Given the description of an element on the screen output the (x, y) to click on. 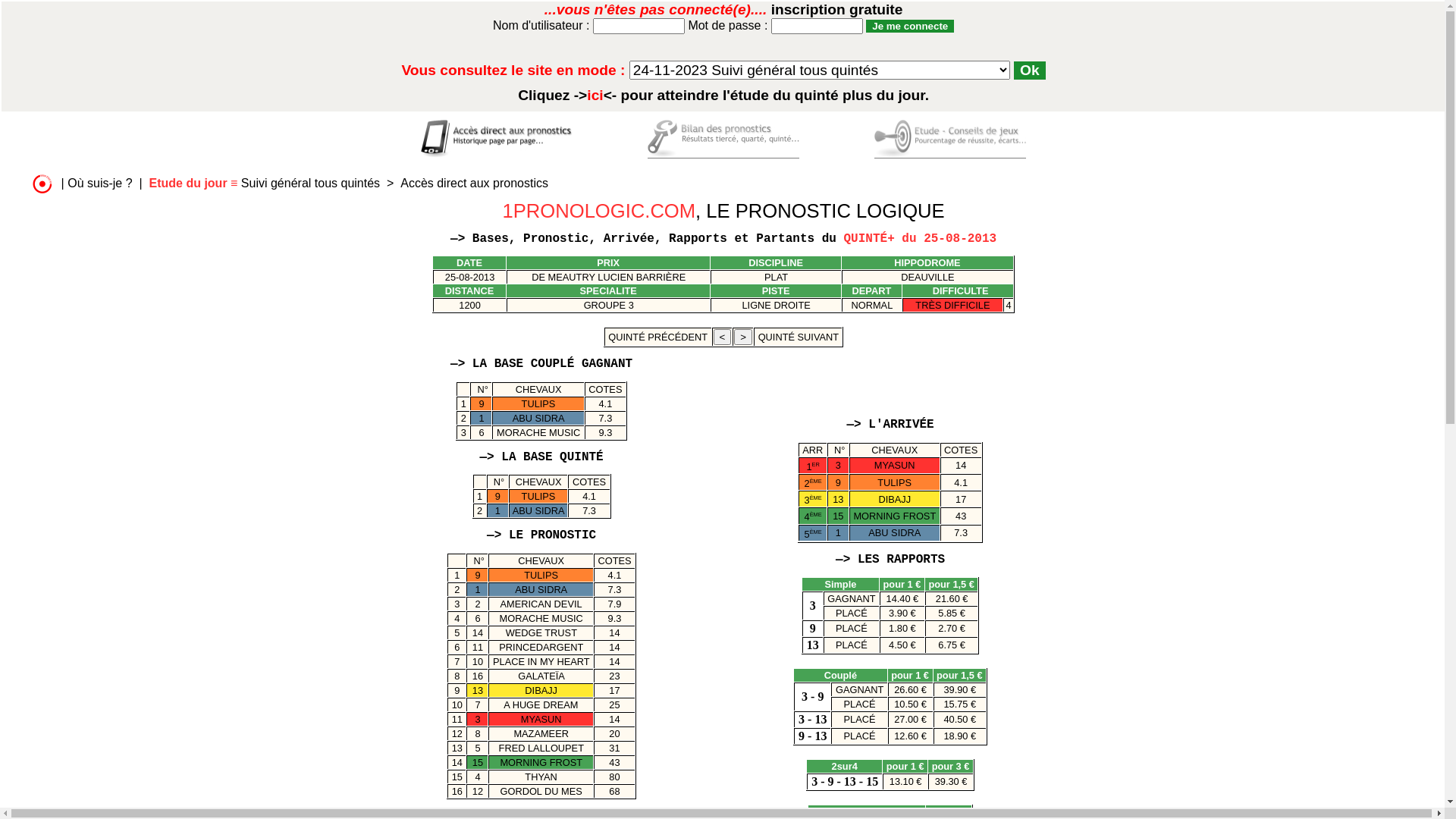
1PRONOLOGIC.COM, LE PRONOSTIC LOGIQUE Element type: text (723, 210)
pronostic suivant Element type: hover (743, 337)
inscription gratuite Element type: text (837, 9)
> Element type: text (743, 337)
< Element type: text (721, 337)
Je me connecte Element type: text (909, 25)
Ok Element type: text (1029, 70)
